Given the description of an element on the screen output the (x, y) to click on. 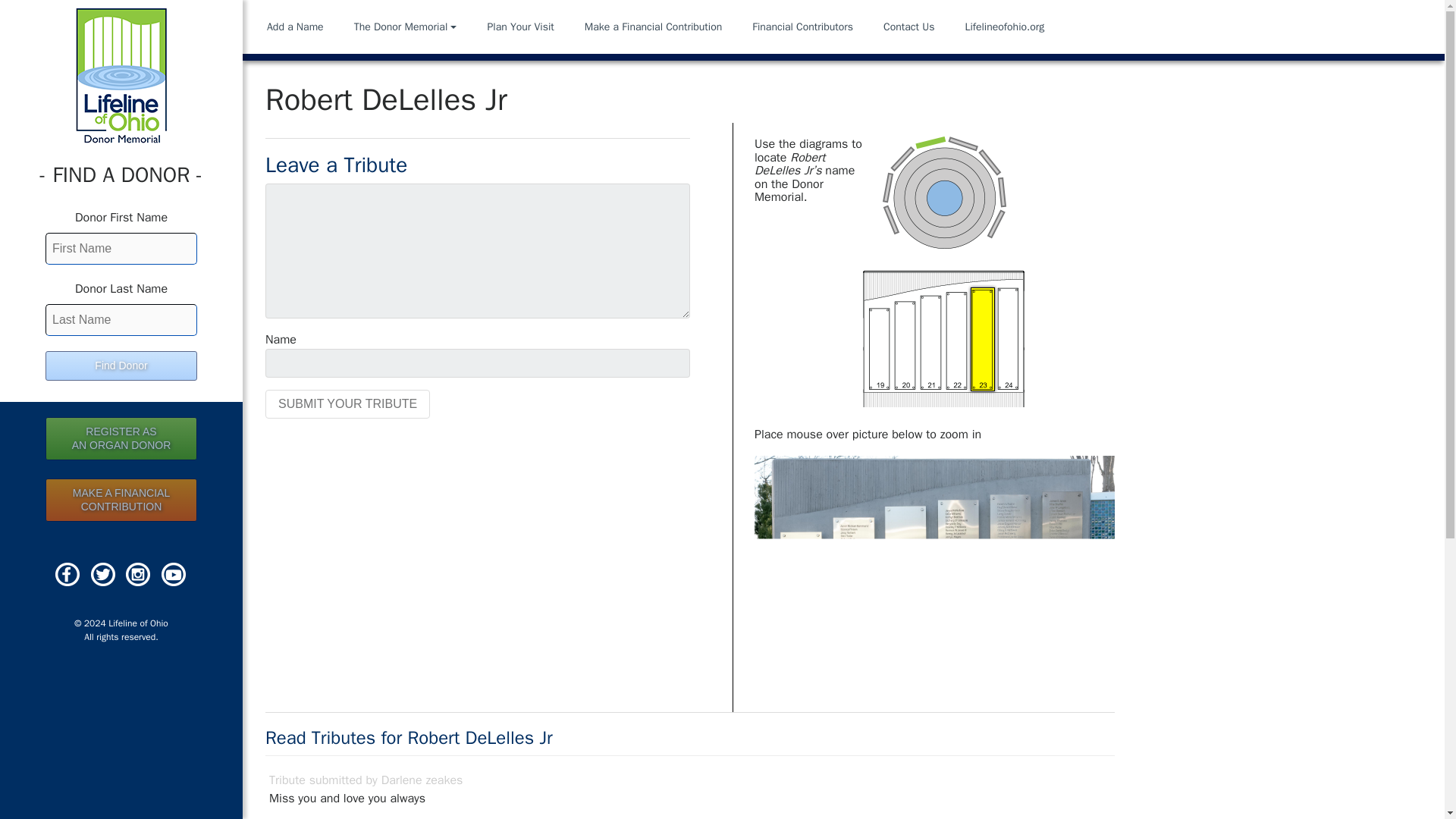
The Donor Memorial (409, 26)
Find Donor (120, 366)
Contact Us (120, 437)
Plan Your Visit (911, 26)
Financial Contributors (523, 26)
SUBMIT YOUR TRIBUTE (804, 26)
SUBMIT YOUR TRIBUTE (120, 438)
Add a Name (346, 403)
